Given the description of an element on the screen output the (x, y) to click on. 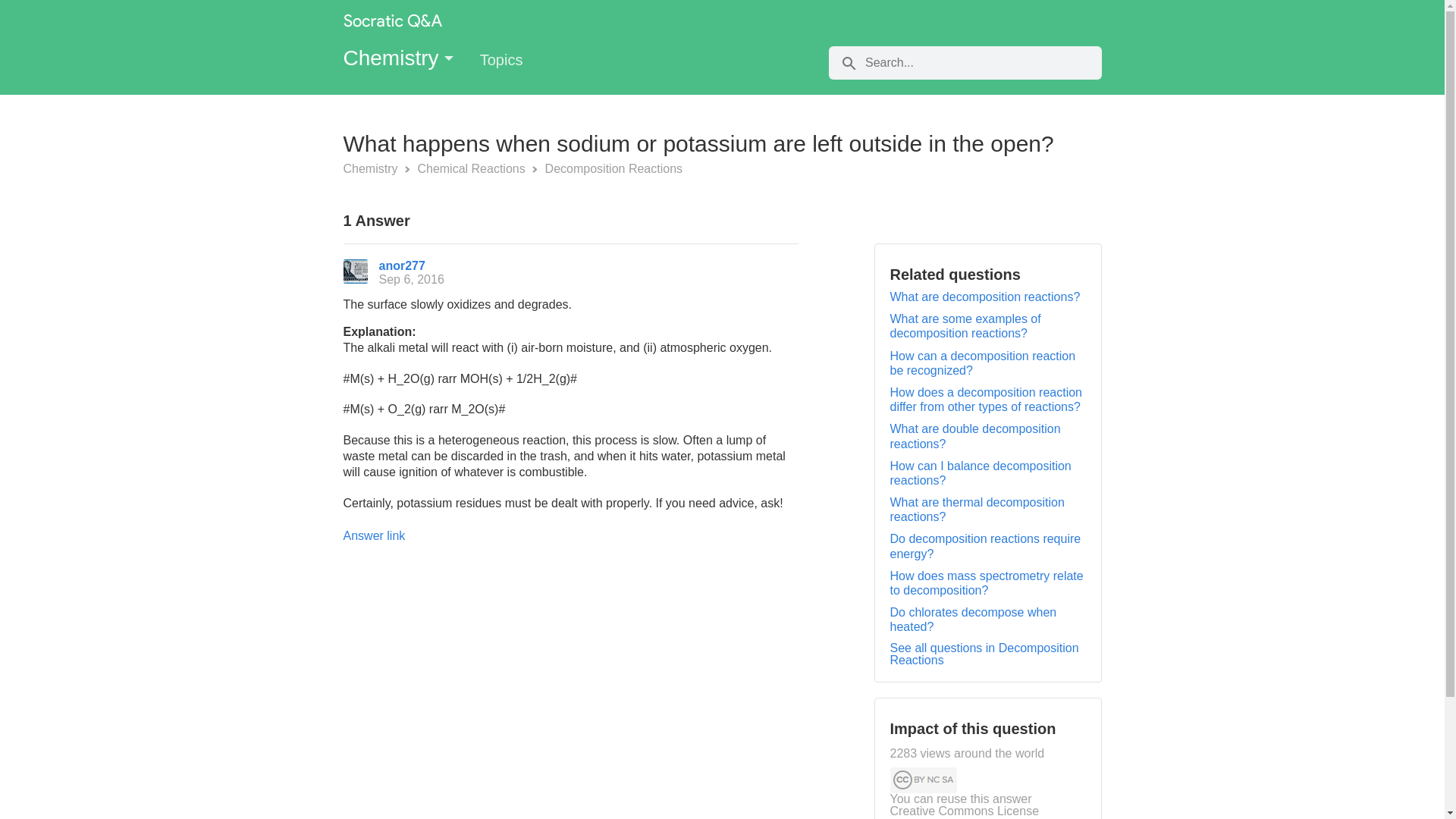
Chemical Reactions (472, 168)
What are thermal decomposition reactions? (976, 509)
Decomposition Reactions (613, 168)
What are some examples of decomposition reactions? (965, 325)
Chemistry (398, 58)
Answer link (373, 535)
What are double decomposition reactions? (975, 435)
See all questions in Decomposition Reactions (983, 653)
Topics (515, 63)
